Given the description of an element on the screen output the (x, y) to click on. 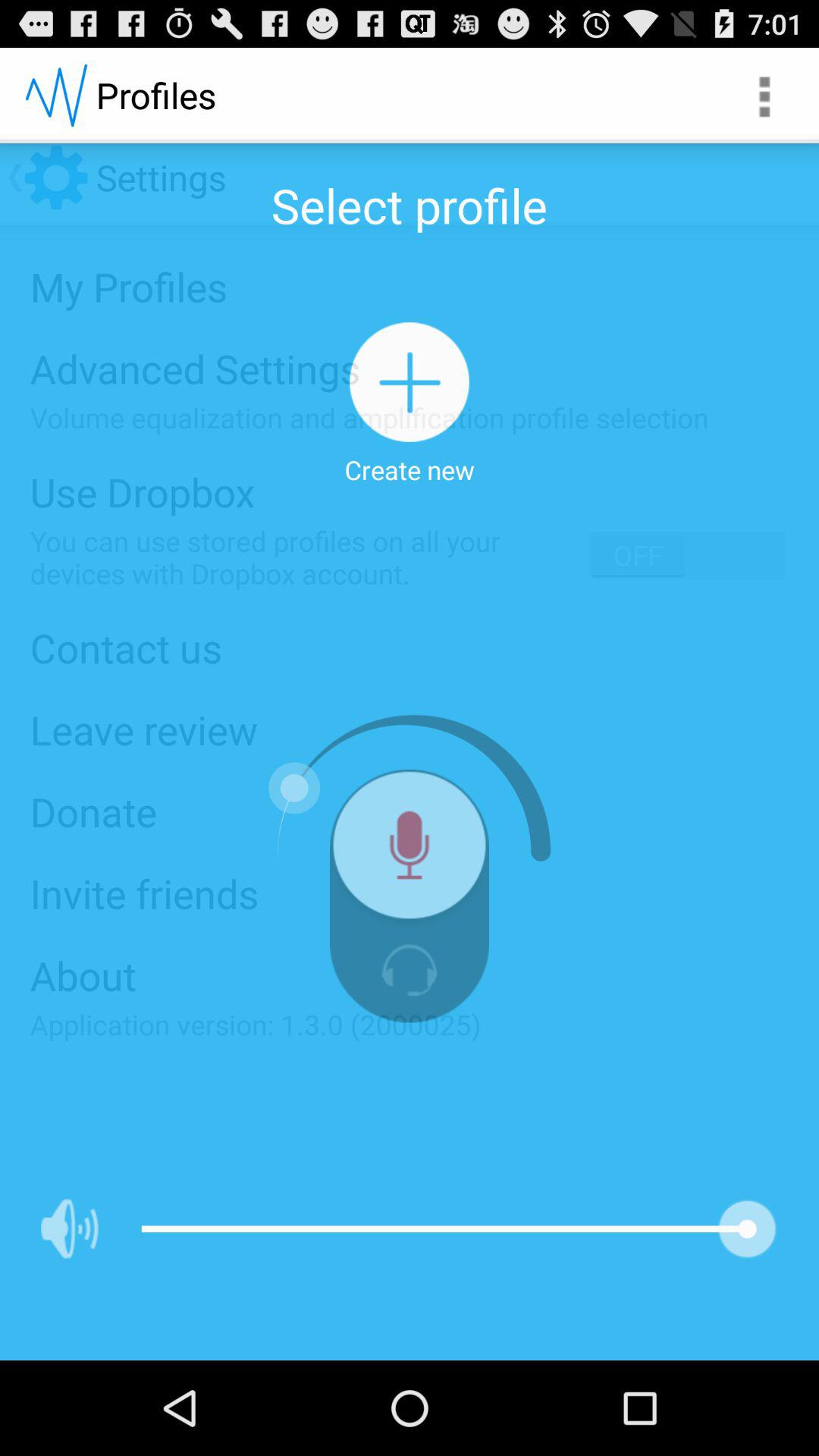
tap icon above the select profile app (763, 95)
